Given the description of an element on the screen output the (x, y) to click on. 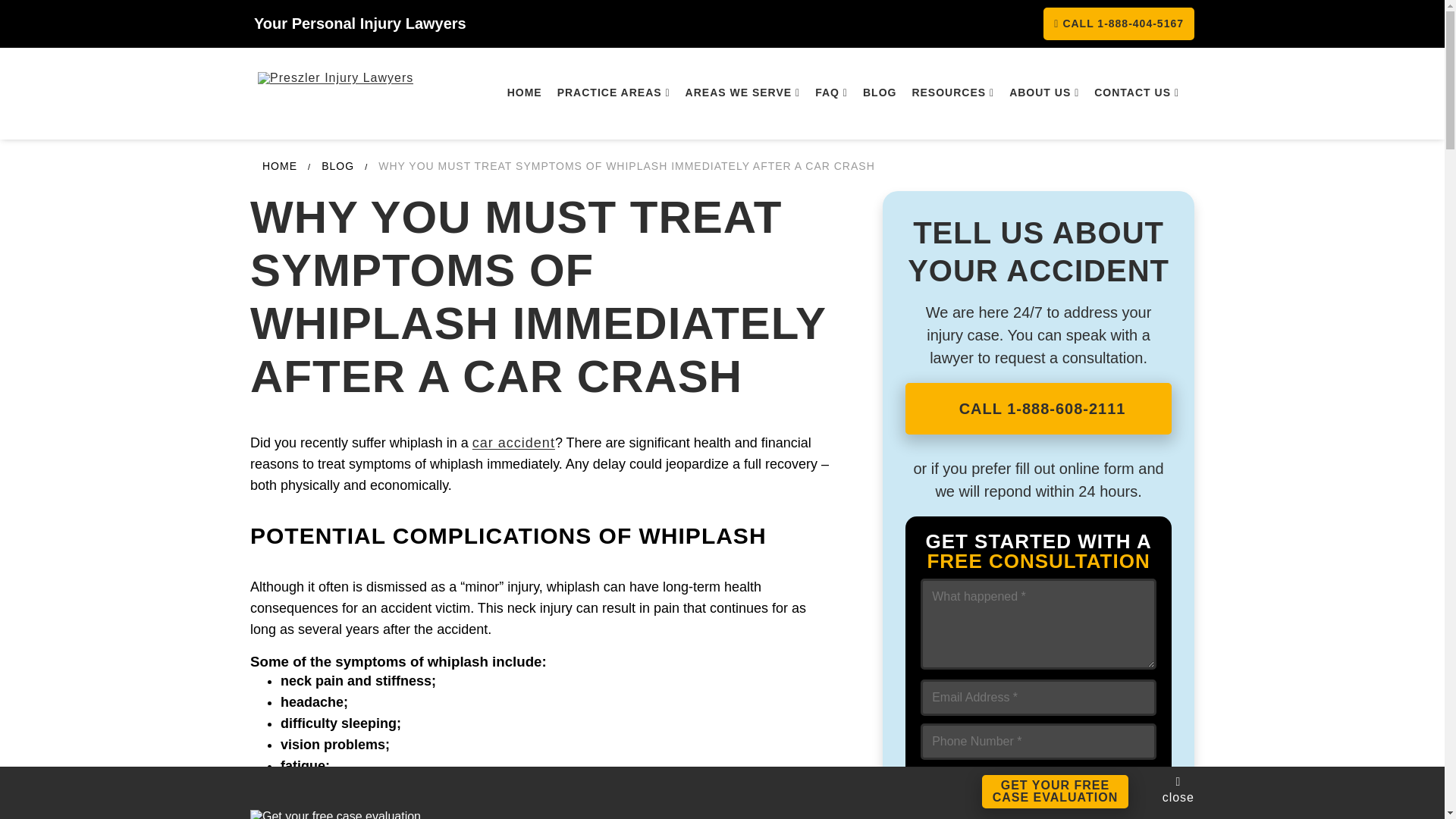
close (1177, 789)
FAQ (832, 92)
AREAS WE SERVE (743, 92)
PRACTICE AREAS (614, 92)
ABOUT US (1043, 92)
CONTACT US (1136, 92)
1 (928, 817)
CALL 1-888-404-5167 (1118, 23)
BLOG (880, 92)
RESOURCES (952, 92)
